Given the description of an element on the screen output the (x, y) to click on. 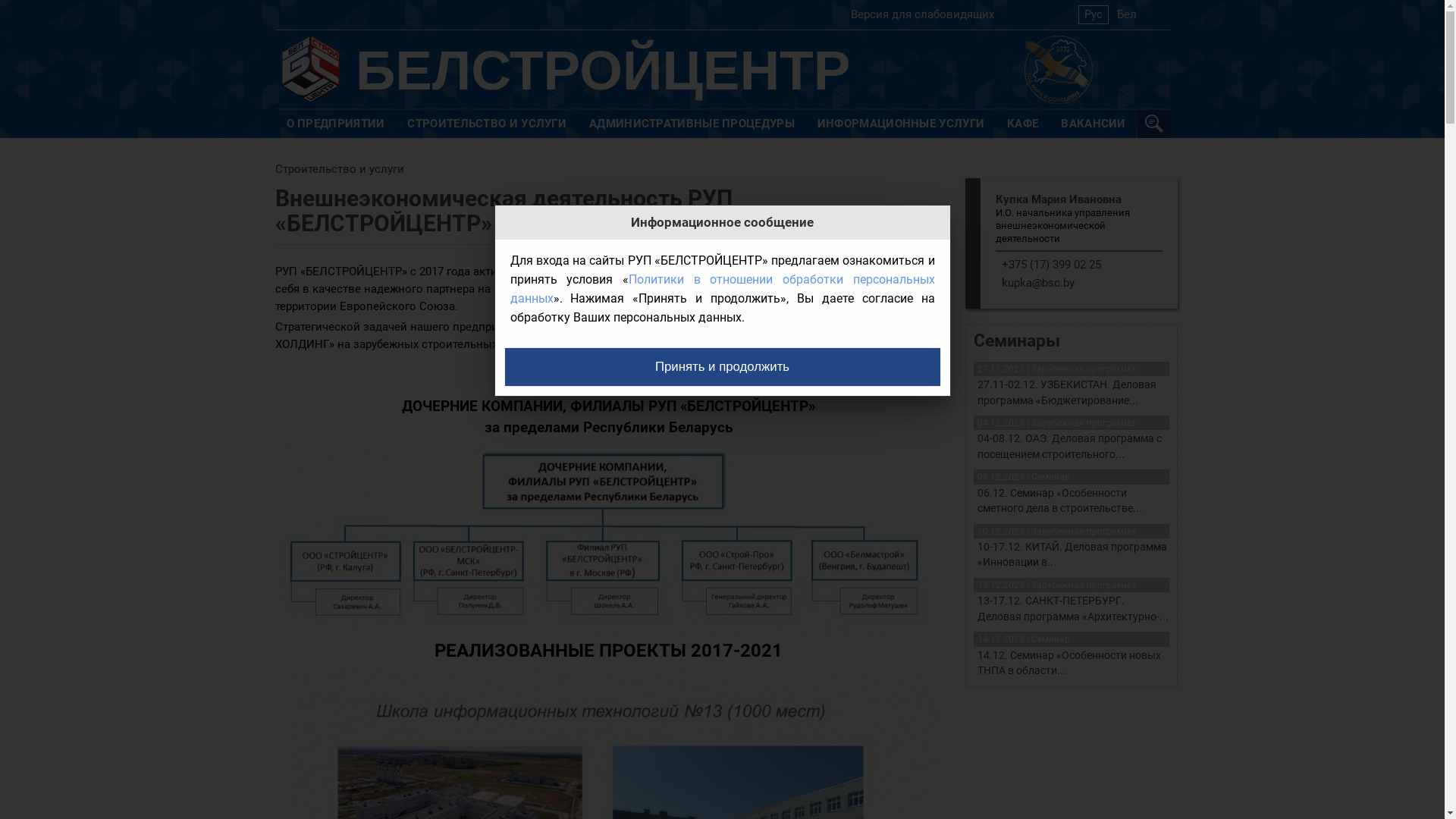
  Element type: text (1155, 123)
+375 (17) 399 02 25 Element type: text (1050, 264)
kupka@bsc.by Element type: text (1037, 282)
